Given the description of an element on the screen output the (x, y) to click on. 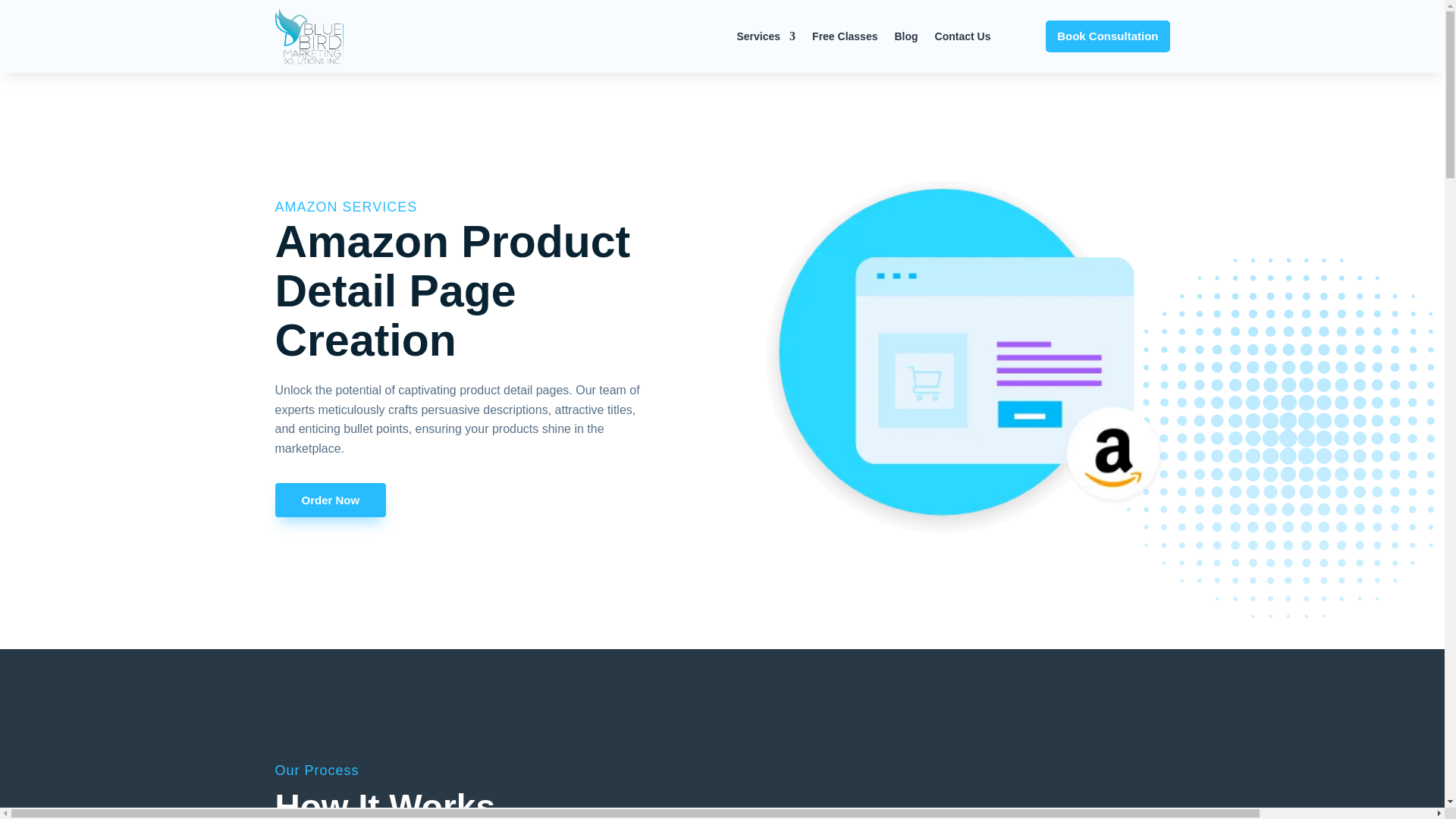
Contact Us (962, 36)
Free Classes (844, 36)
Services (765, 36)
Book Consultation (1107, 36)
